Given the description of an element on the screen output the (x, y) to click on. 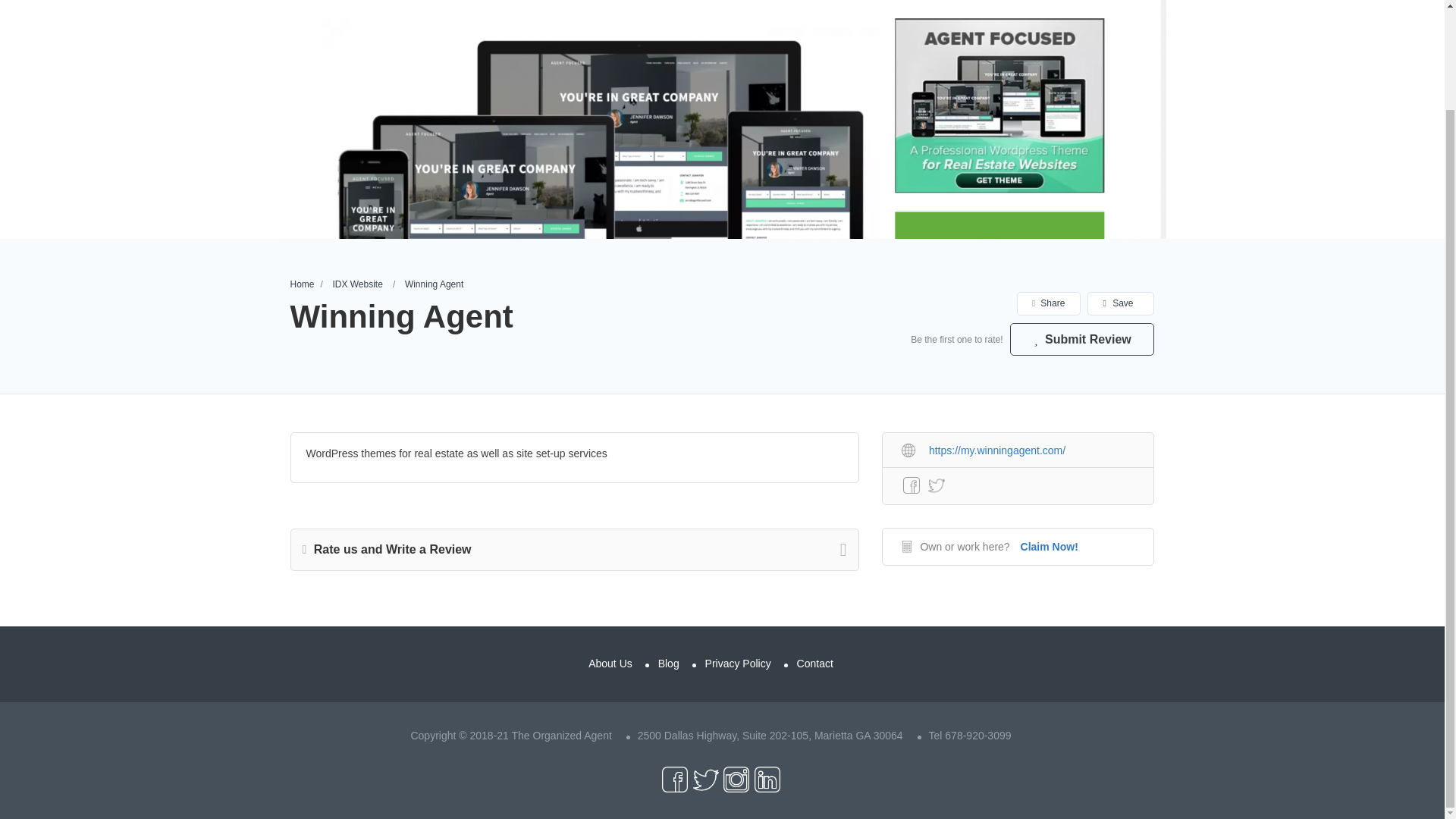
Submit (411, 386)
Sign in (721, 356)
